Given the description of an element on the screen output the (x, y) to click on. 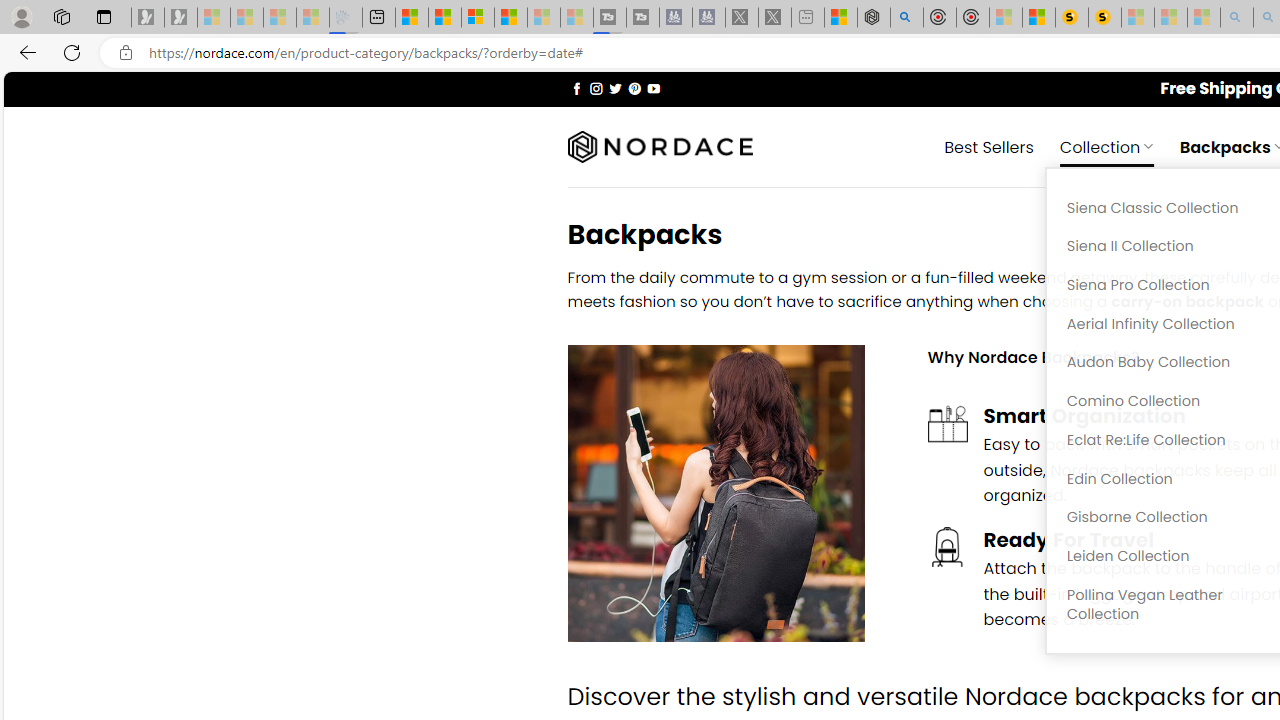
Personal Profile (21, 16)
New tab (379, 17)
Overview (478, 17)
Back (24, 52)
Wildlife - MSN (841, 17)
Nordace (659, 147)
Follow on Instagram (596, 88)
Microsoft Start - Sleeping (543, 17)
Newsletter Sign Up - Sleeping (181, 17)
amazon - Search - Sleeping (1237, 17)
